Given the description of an element on the screen output the (x, y) to click on. 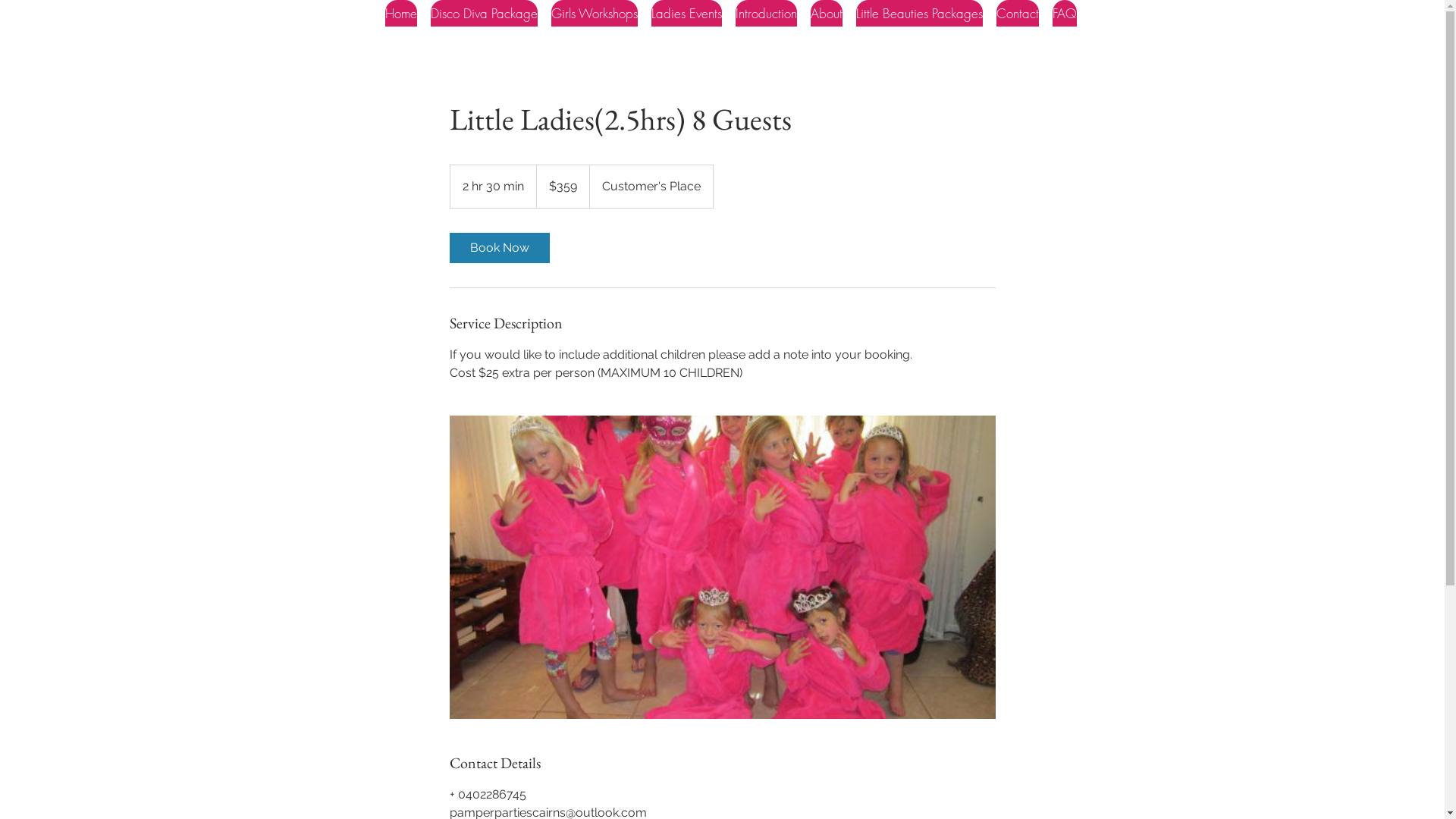
Contact Element type: text (1017, 13)
Disco Diva Package Element type: text (483, 13)
Home Element type: text (401, 13)
Book Now Element type: text (498, 247)
Introduction Element type: text (766, 13)
Little Beauties Packages Element type: text (919, 13)
Ladies Events Element type: text (686, 13)
About Element type: text (826, 13)
FAQ Element type: text (1064, 13)
Girls Workshops Element type: text (594, 13)
